Given the description of an element on the screen output the (x, y) to click on. 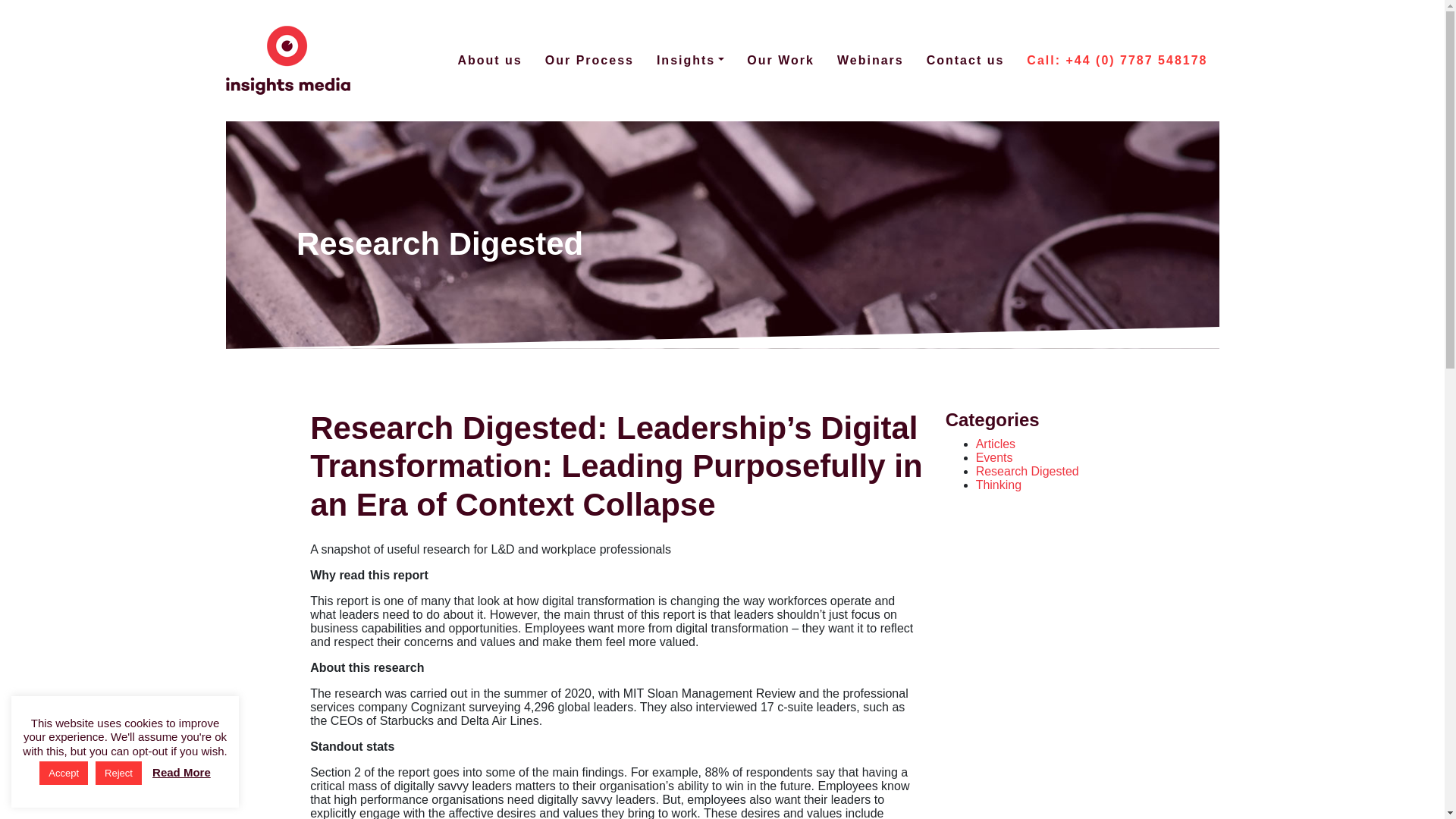
Contact us (965, 60)
Events (994, 457)
Articles (994, 443)
Our Work (780, 60)
Read More (181, 771)
Reject (118, 772)
Research Digested (1026, 471)
About us (488, 60)
Webinars (870, 60)
Insights (690, 60)
Webinars (870, 60)
Our Work (780, 60)
Thinking (998, 484)
Insights (690, 60)
Our Process (589, 60)
